Given the description of an element on the screen output the (x, y) to click on. 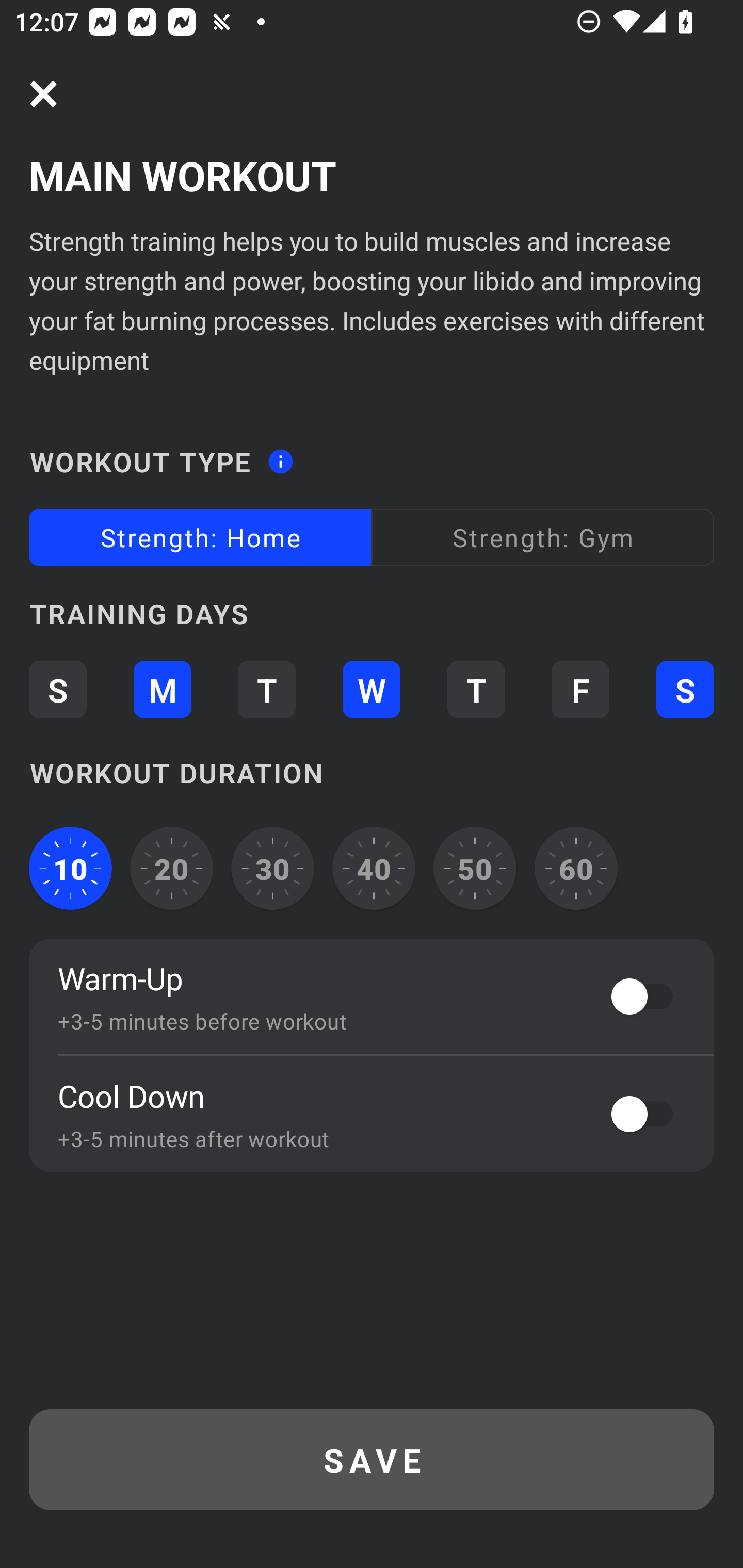
Navigation icon (43, 93)
Workout type information button (280, 455)
Strength: Home (199, 536)
Strength: Gym (542, 536)
S (57, 689)
T (266, 689)
T (476, 689)
F (580, 689)
10 (70, 868)
20 (171, 868)
30 (272, 868)
40 (373, 868)
50 (474, 868)
60 (575, 868)
SAVE (371, 1459)
